Given the description of an element on the screen output the (x, y) to click on. 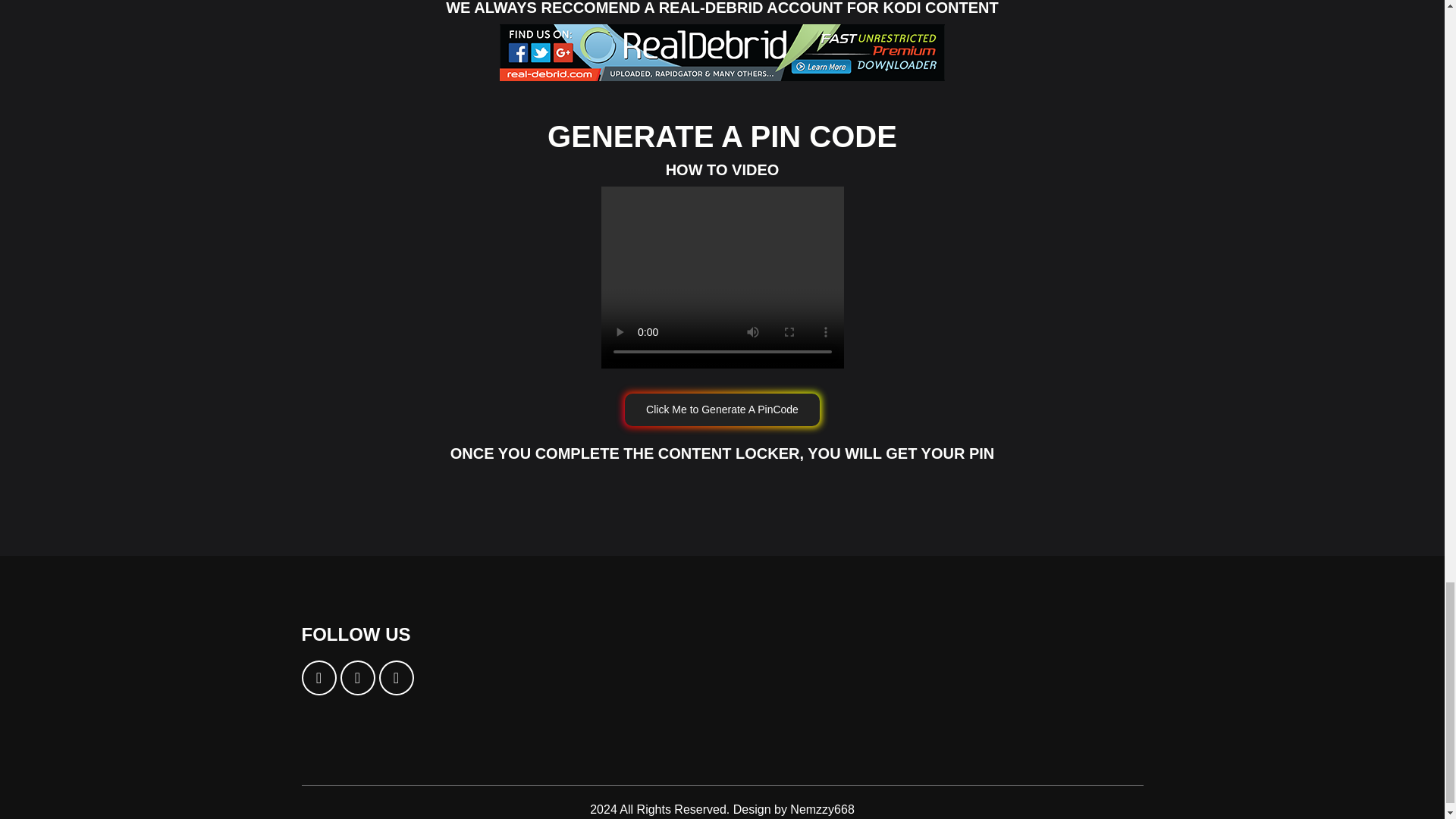
Real-Debrid (721, 51)
Click Me to Generate A PinCode (721, 409)
Click Me to Generate A PinCode (721, 409)
